Given the description of an element on the screen output the (x, y) to click on. 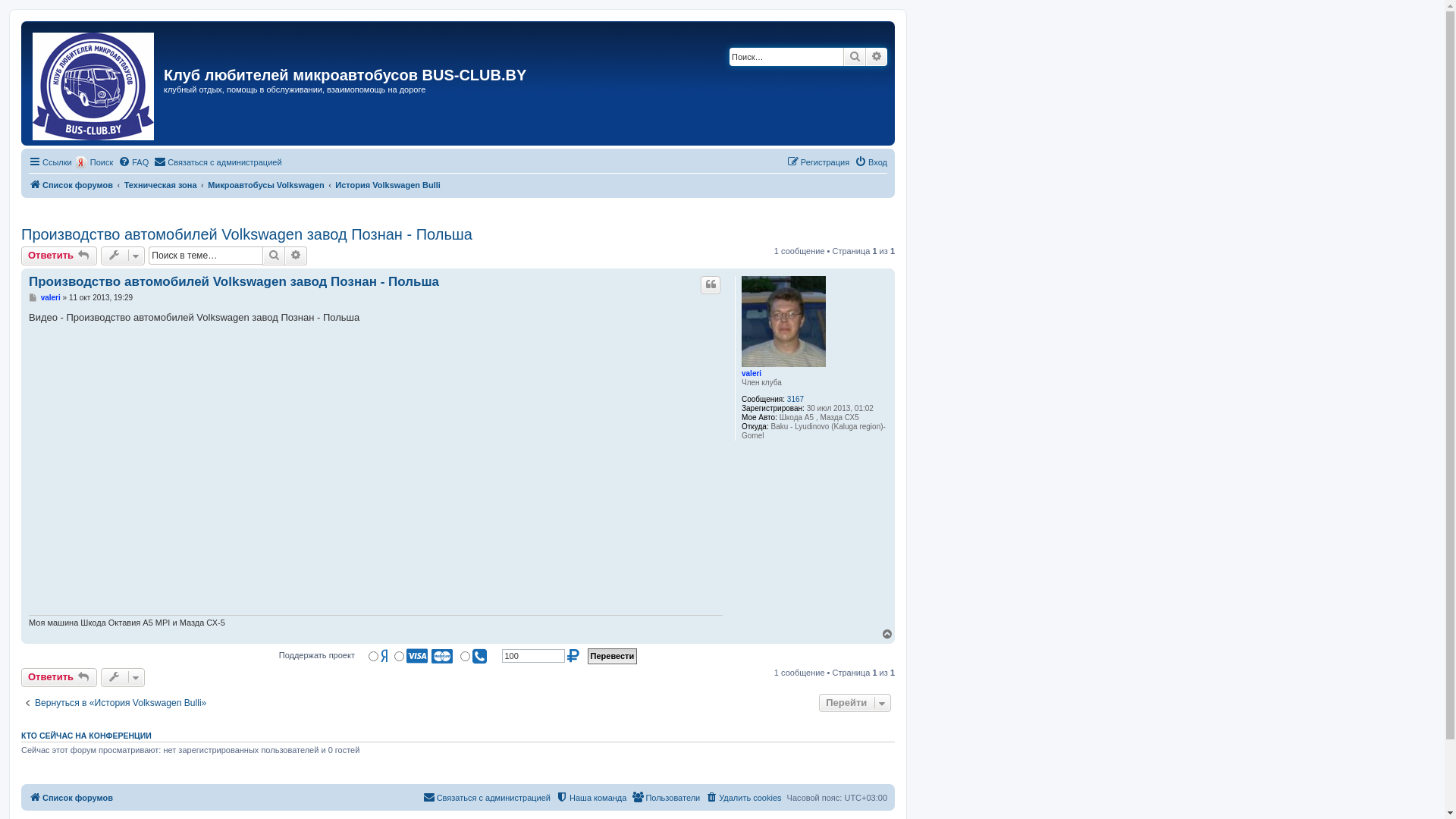
3167 Element type: text (795, 399)
FAQ Element type: text (133, 162)
valeri Element type: text (751, 373)
valeri Element type: text (50, 297)
